Given the description of an element on the screen output the (x, y) to click on. 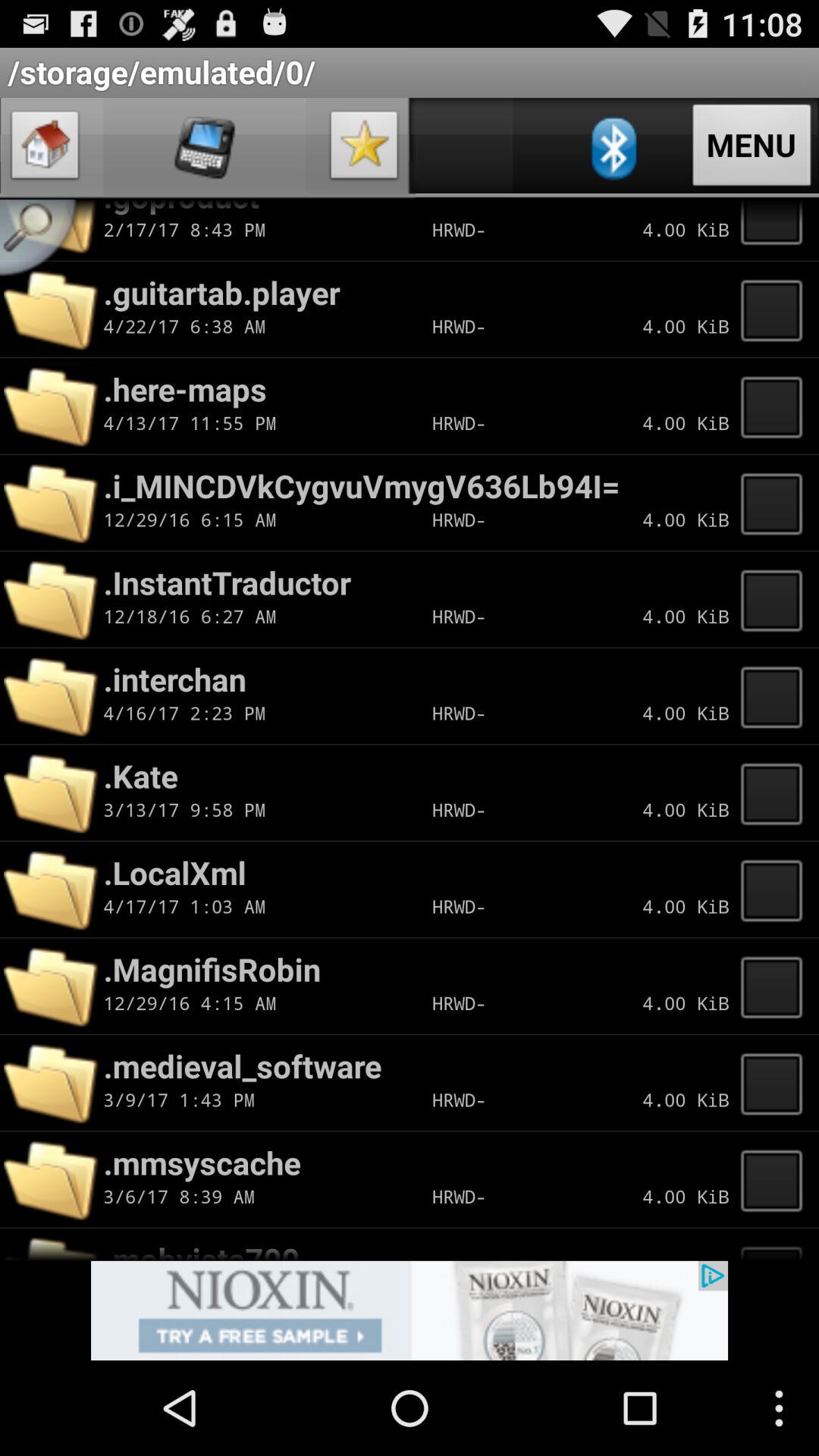
click on kate (776, 792)
